Given the description of an element on the screen output the (x, y) to click on. 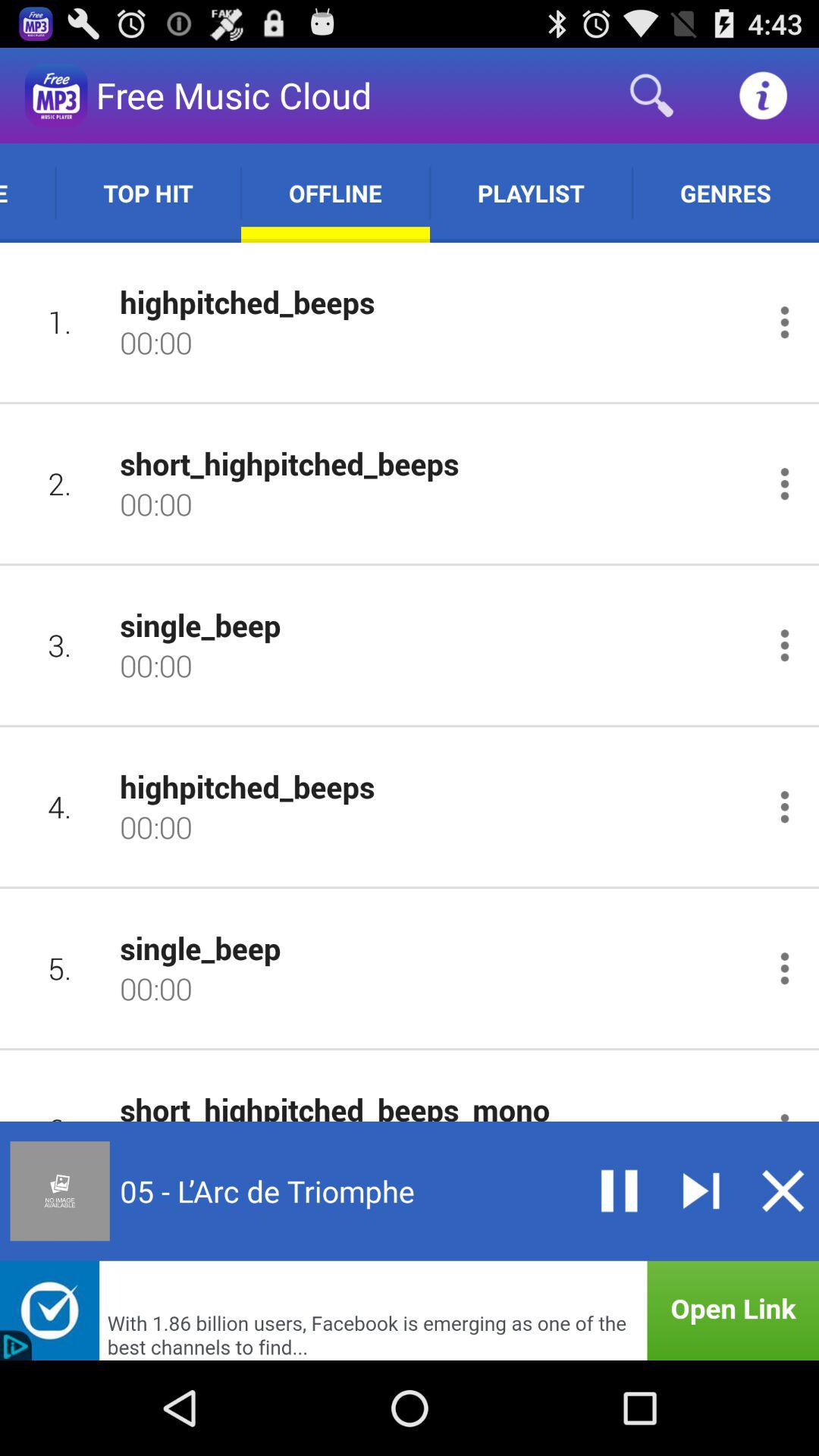
open the link (409, 1310)
